Given the description of an element on the screen output the (x, y) to click on. 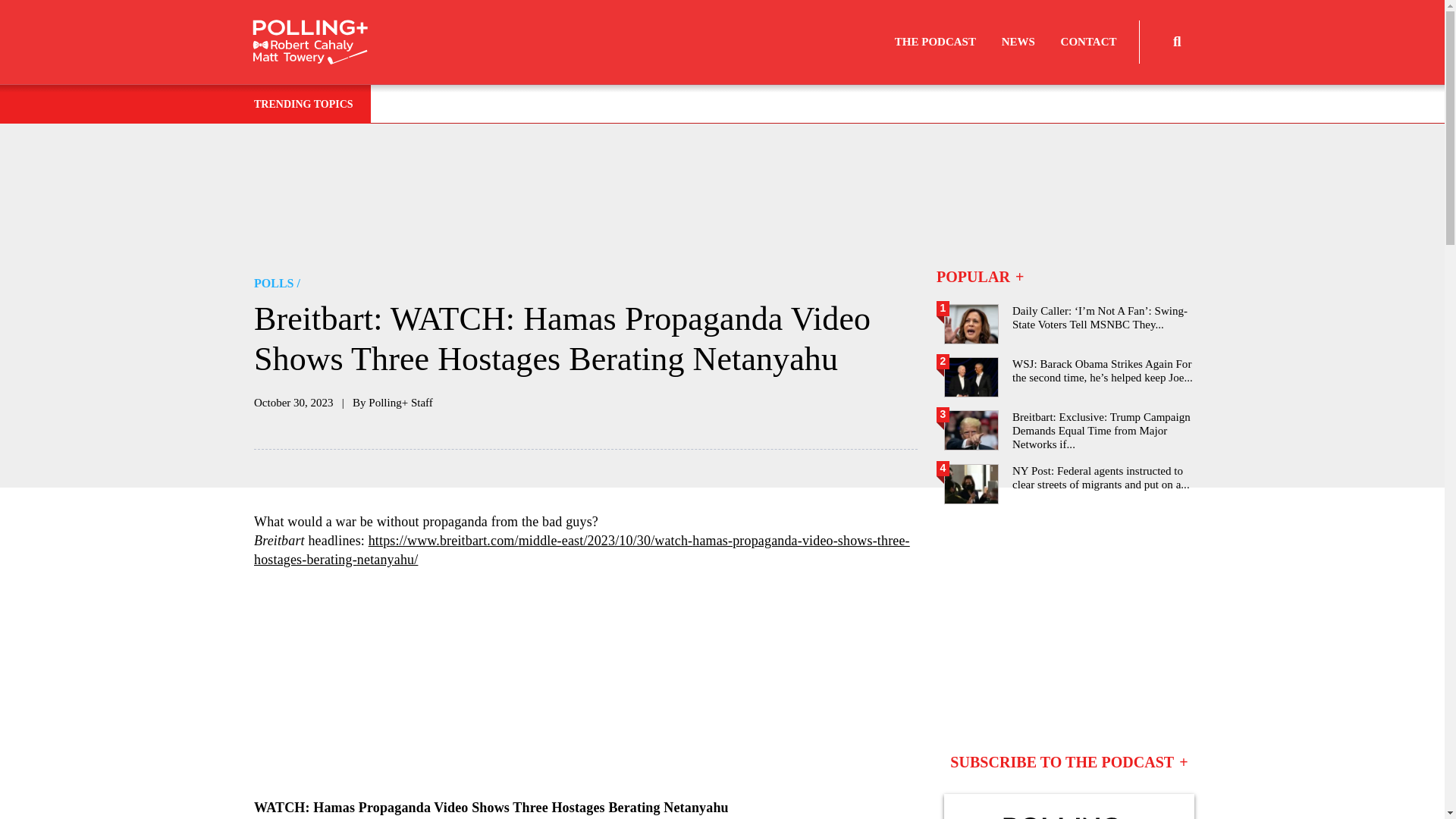
Advertisement (1068, 627)
Advertisement (584, 683)
NEWS (1018, 41)
THE PODCAST (935, 41)
CONTACT (1088, 41)
Advertisement (727, 195)
